Given the description of an element on the screen output the (x, y) to click on. 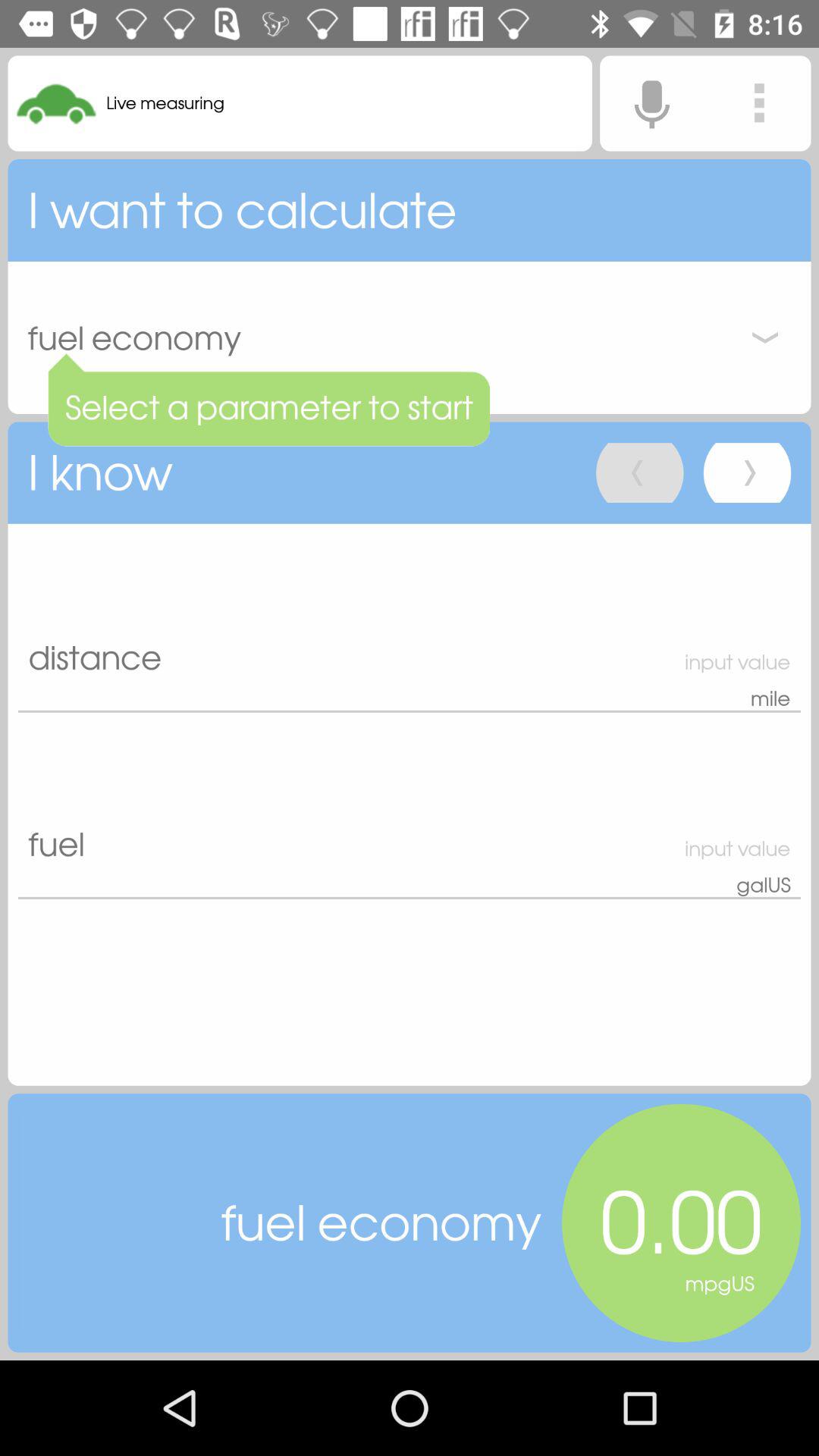
voice search (651, 103)
